Given the description of an element on the screen output the (x, y) to click on. 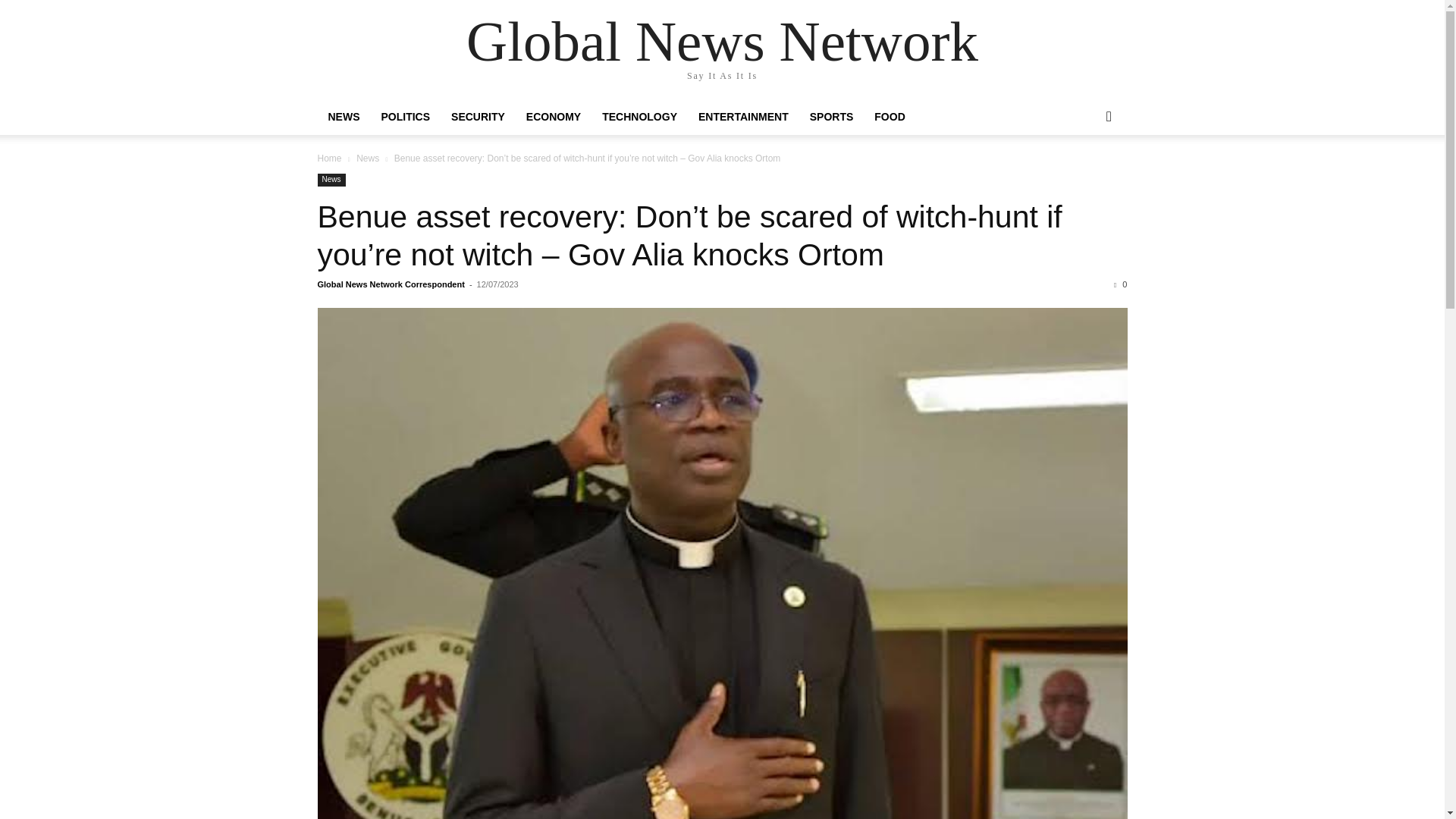
View all posts in News (367, 158)
Global News Network (721, 41)
ENTERTAINMENT (743, 116)
FOOD (889, 116)
SPORTS (831, 116)
POLITICS (405, 116)
Global News Network Correspondent (390, 284)
0 (1119, 284)
News (367, 158)
Search (1085, 177)
ECONOMY (553, 116)
Home (328, 158)
NEWS (343, 116)
News (331, 179)
TECHNOLOGY (639, 116)
